Given the description of an element on the screen output the (x, y) to click on. 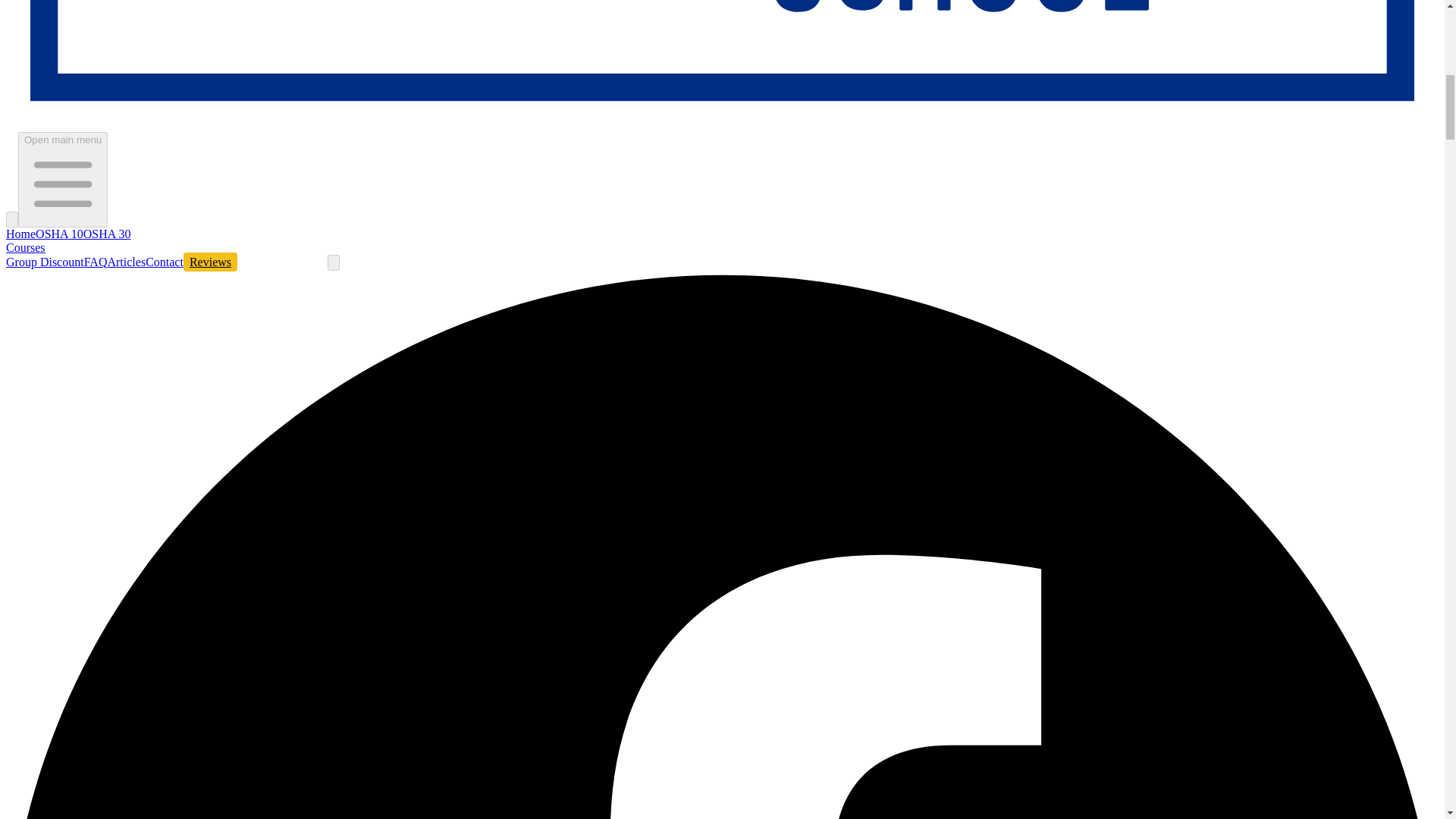
Open main menu (62, 179)
Articles (125, 261)
Courses (25, 246)
Contact (164, 261)
FAQ (95, 261)
Home (19, 233)
Reviews (210, 261)
OSHA 10 (58, 233)
Partner With Us (282, 261)
Group Discount (44, 261)
OSHA 30 (106, 233)
